Given the description of an element on the screen output the (x, y) to click on. 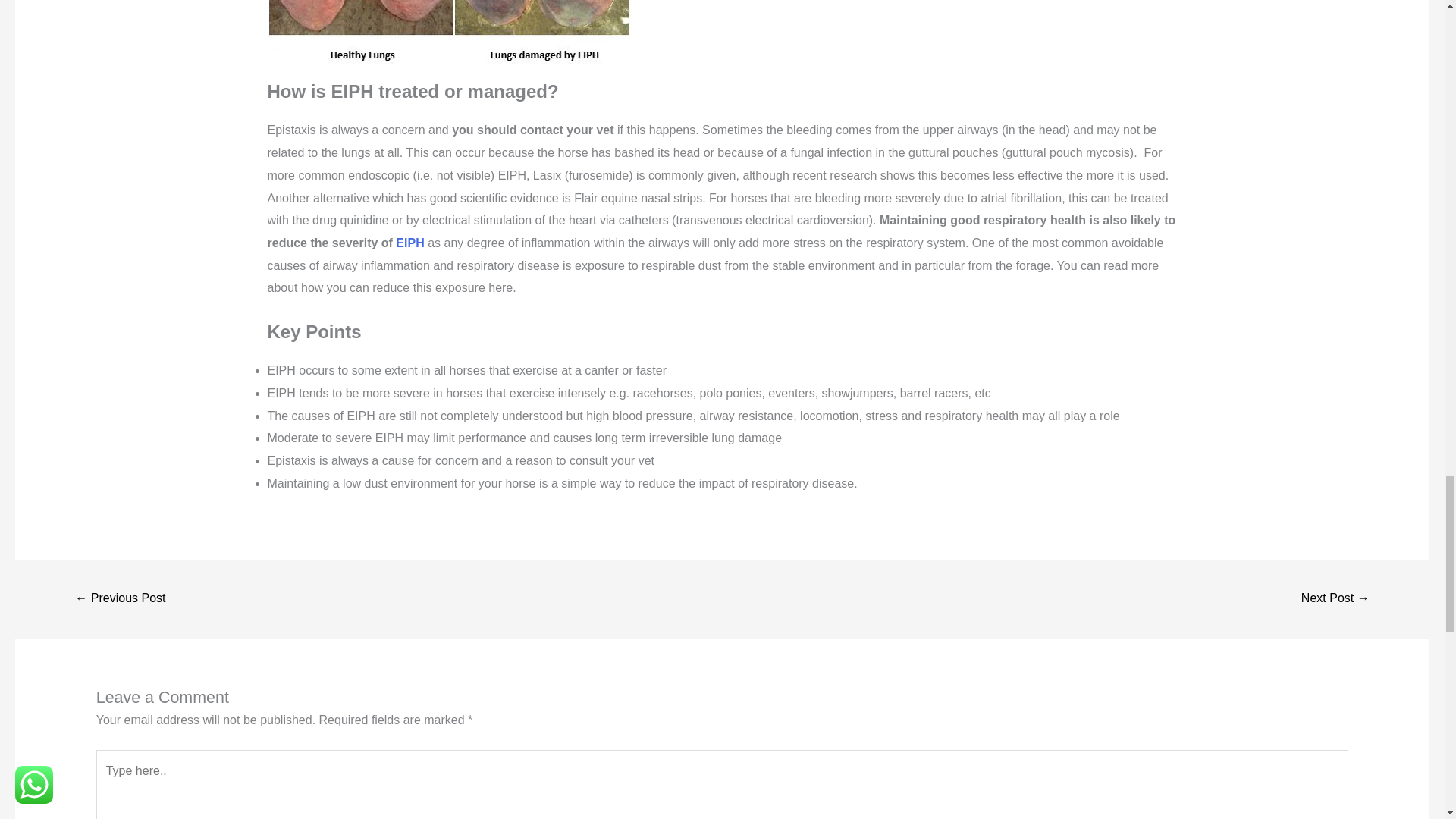
EIPH (409, 242)
Caring For Equine Horses In Winter (1334, 599)
Tramadol for Dogs: Uses and Side Effects (119, 599)
